Given the description of an element on the screen output the (x, y) to click on. 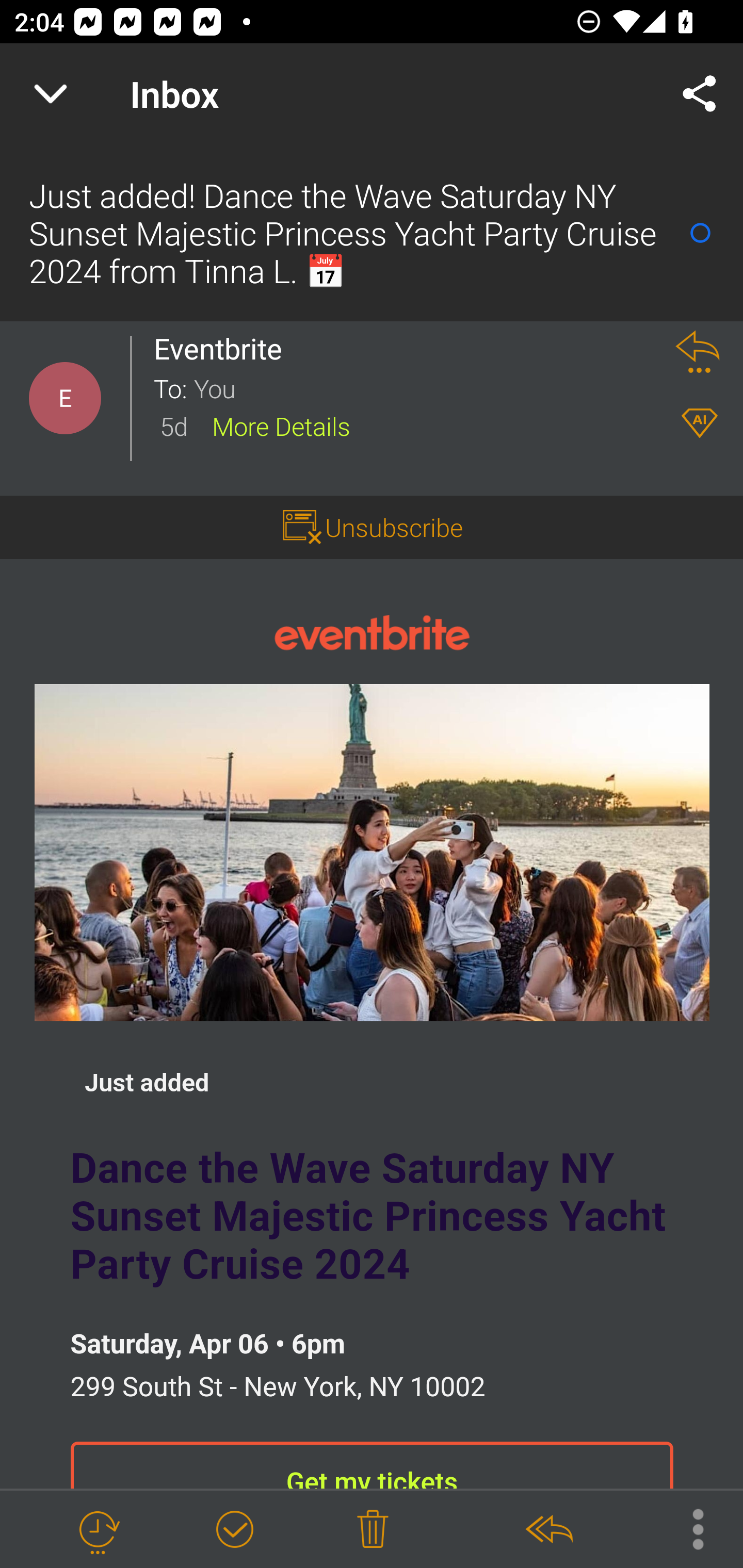
Navigate up (50, 93)
Share (699, 93)
Mark as Read (699, 232)
Eventbrite (222, 348)
Contact Details (64, 398)
You (422, 387)
More Details (280, 424)
Unsubscribe (393, 526)
Eventbrite (371, 631)
Get my tickets (371, 1464)
More Options (687, 1528)
Snooze (97, 1529)
Mark as Done (234, 1529)
Delete (372, 1529)
Reply All (548, 1529)
